Given the description of an element on the screen output the (x, y) to click on. 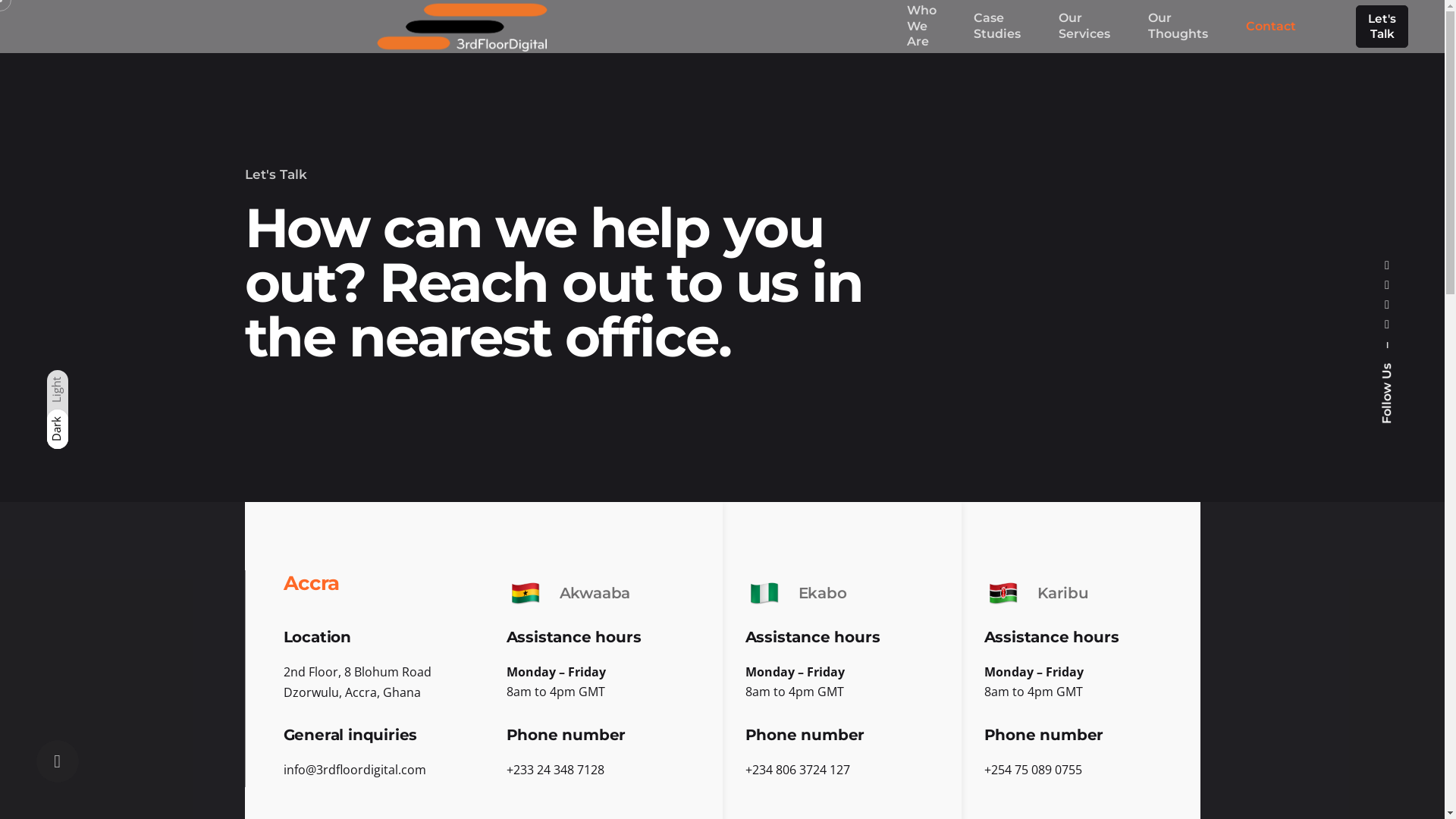
Let's Talk Element type: text (1381, 26)
+254 75 089 0755 Element type: text (1033, 769)
Case Studies Element type: text (996, 26)
Contact Element type: text (1270, 26)
Who We Are Element type: text (921, 26)
Our Services Element type: text (1084, 26)
Our Thoughts Element type: text (1177, 26)
+234 806 3724 127 Element type: text (796, 769)
233 24 348 7128 Element type: text (557, 769)
